Given the description of an element on the screen output the (x, y) to click on. 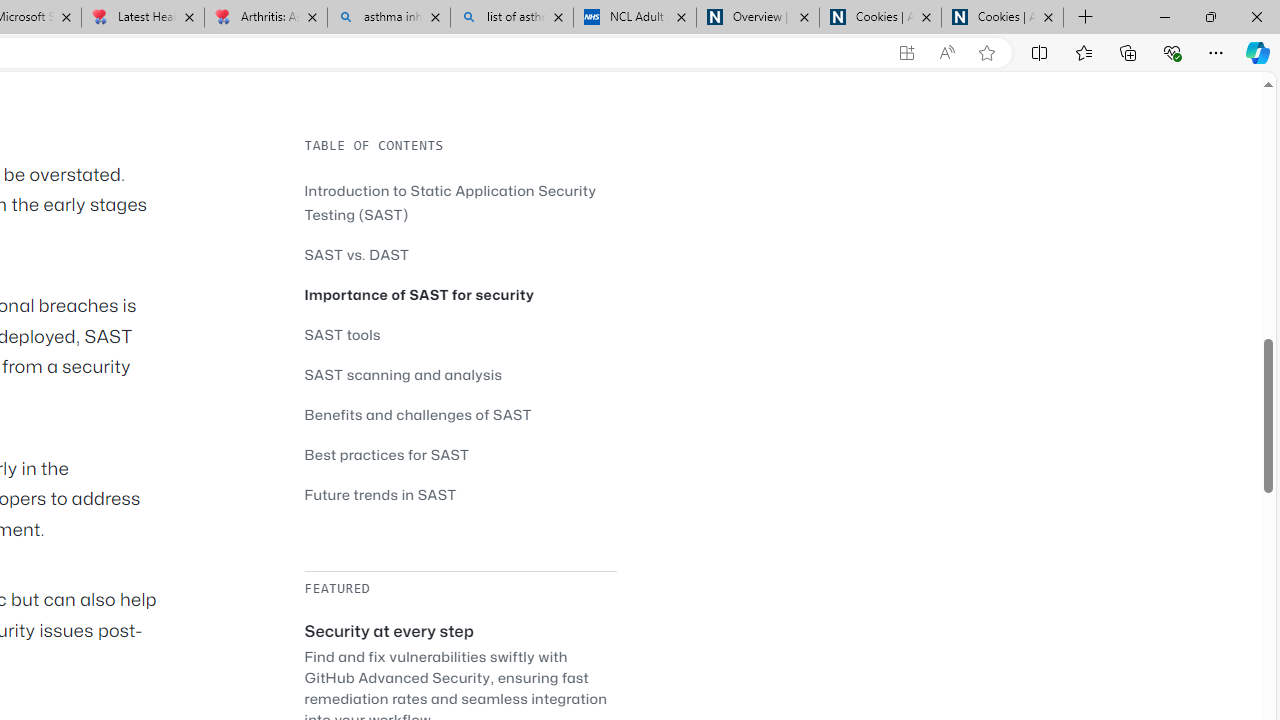
Best practices for SAST (460, 454)
SAST vs. DAST (356, 254)
SAST tools (342, 334)
Best practices for SAST (386, 453)
